Given the description of an element on the screen output the (x, y) to click on. 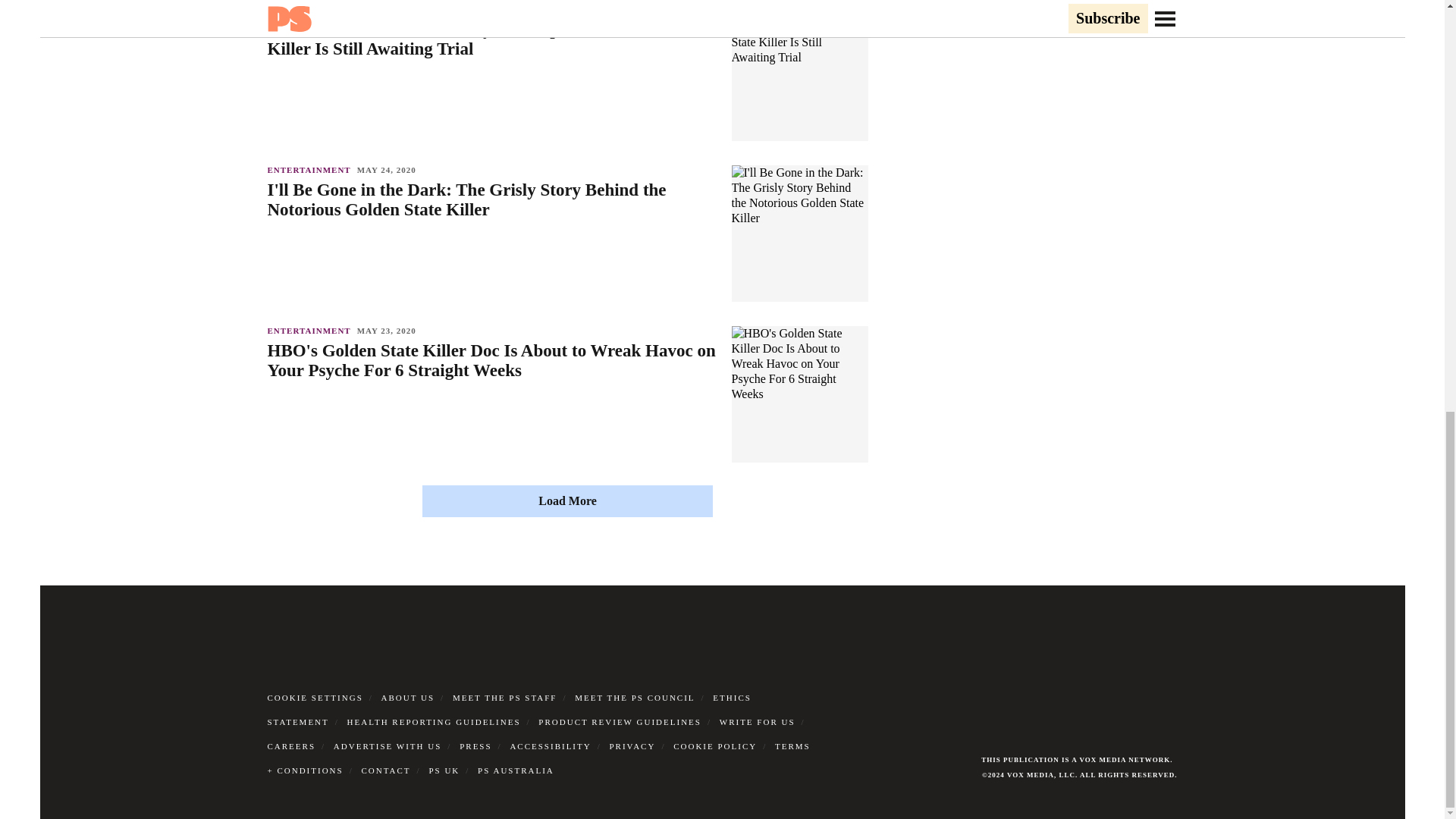
Load More (567, 500)
ENTERTAINMENT (311, 8)
HEALTH REPORTING GUIDELINES (434, 721)
WRITE FOR US (756, 721)
MEET THE PS COUNCIL (634, 697)
ABOUT US (408, 697)
ENTERTAINMENT (311, 169)
MEET THE PS STAFF (504, 697)
ETHICS STATEMENT (508, 709)
ENTERTAINMENT (311, 329)
PRODUCT REVIEW GUIDELINES (619, 721)
